Given the description of an element on the screen output the (x, y) to click on. 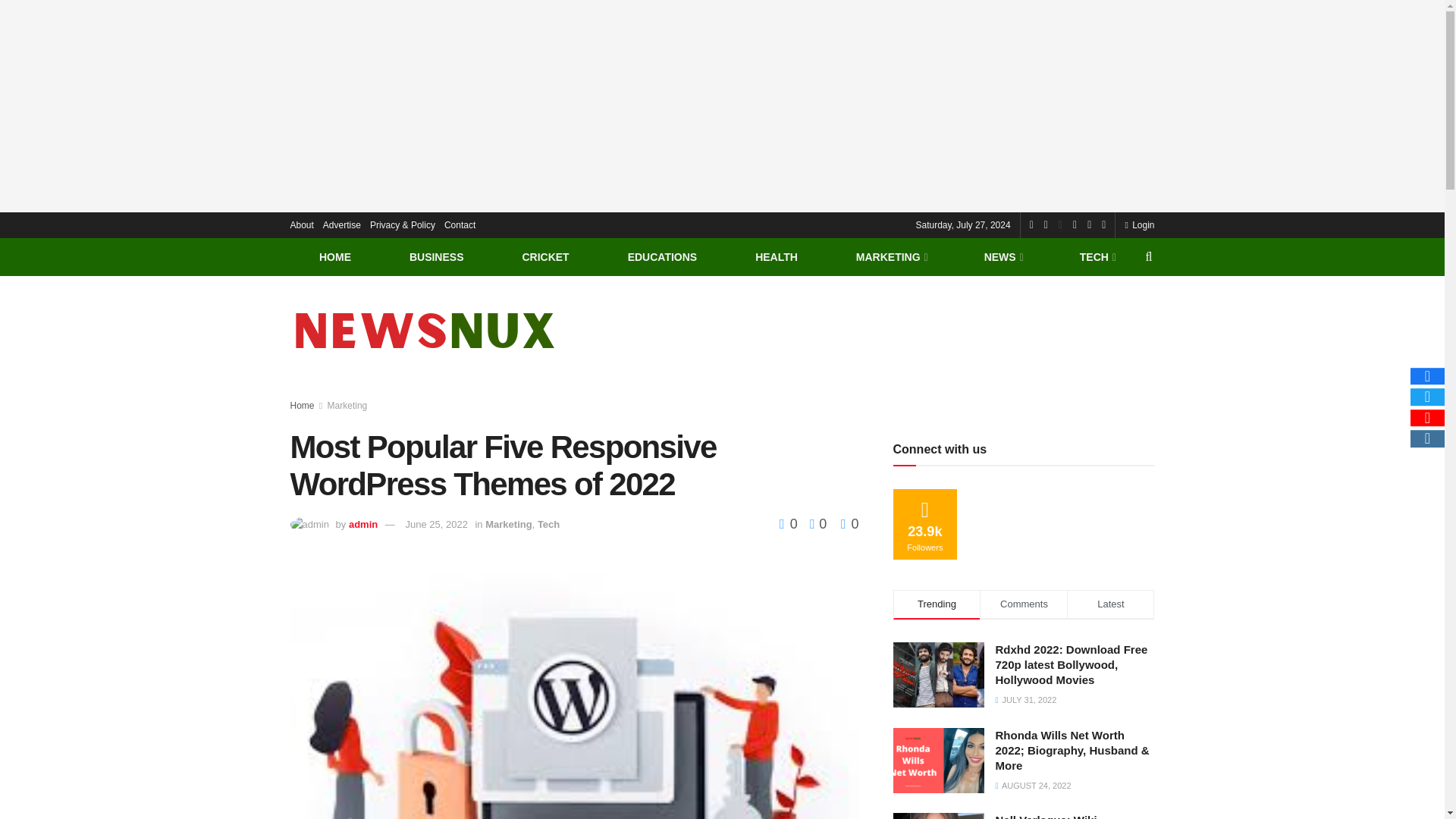
CRICKET (545, 257)
EDUCATIONS (661, 257)
HEALTH (776, 257)
NEWS (1002, 257)
Login (1139, 225)
MARKETING (891, 257)
Advertise (342, 225)
BUSINESS (436, 257)
TECH (1095, 257)
HOME (334, 257)
Contact (460, 225)
About (301, 225)
